Given the description of an element on the screen output the (x, y) to click on. 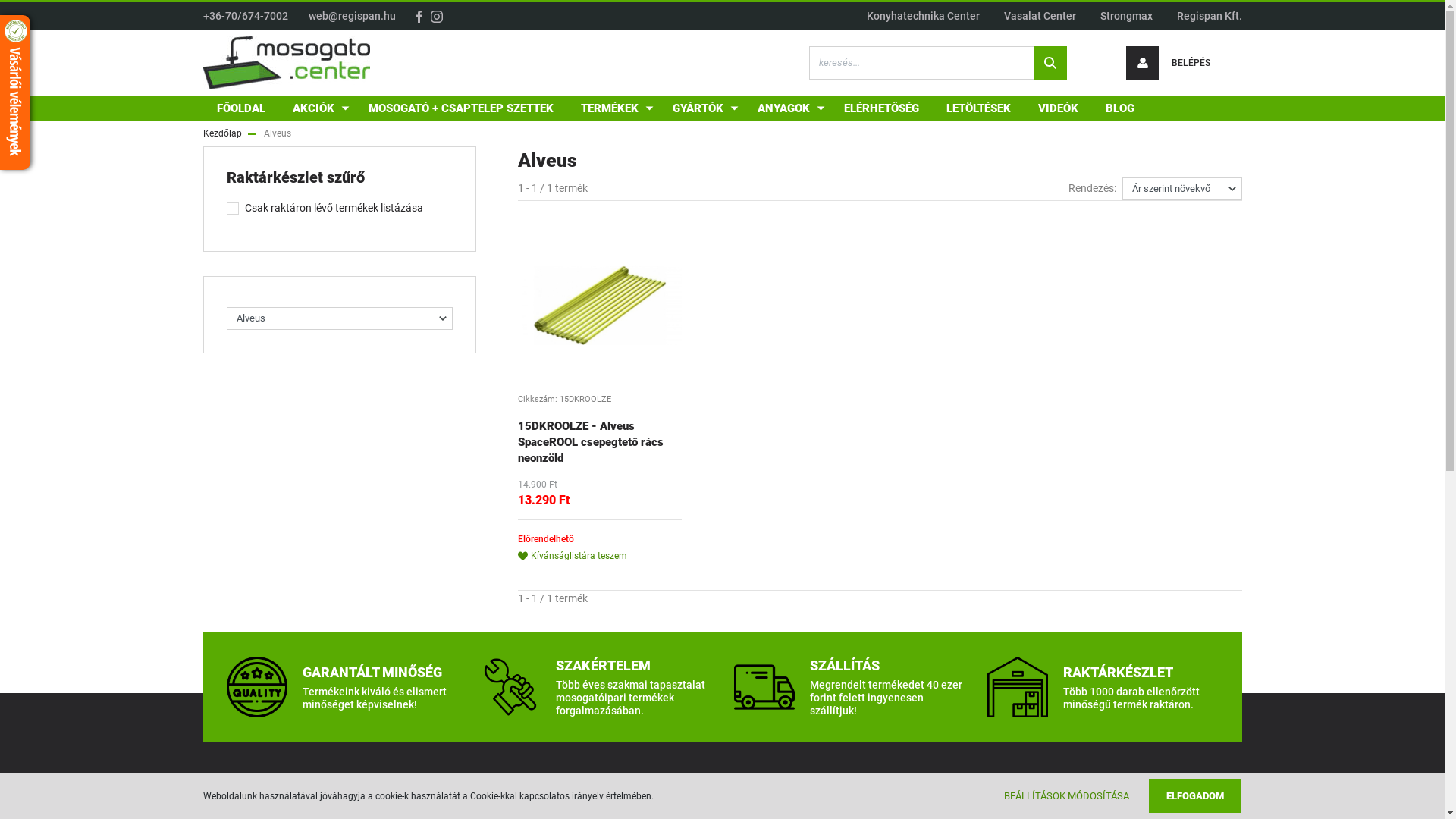
web@regispan.hu Element type: text (351, 15)
ANYAGOK Element type: text (786, 107)
BLOG Element type: text (1120, 107)
ELFOGADOM Element type: text (1194, 795)
+36-70/674-7002 Element type: text (245, 15)
